Given the description of an element on the screen output the (x, y) to click on. 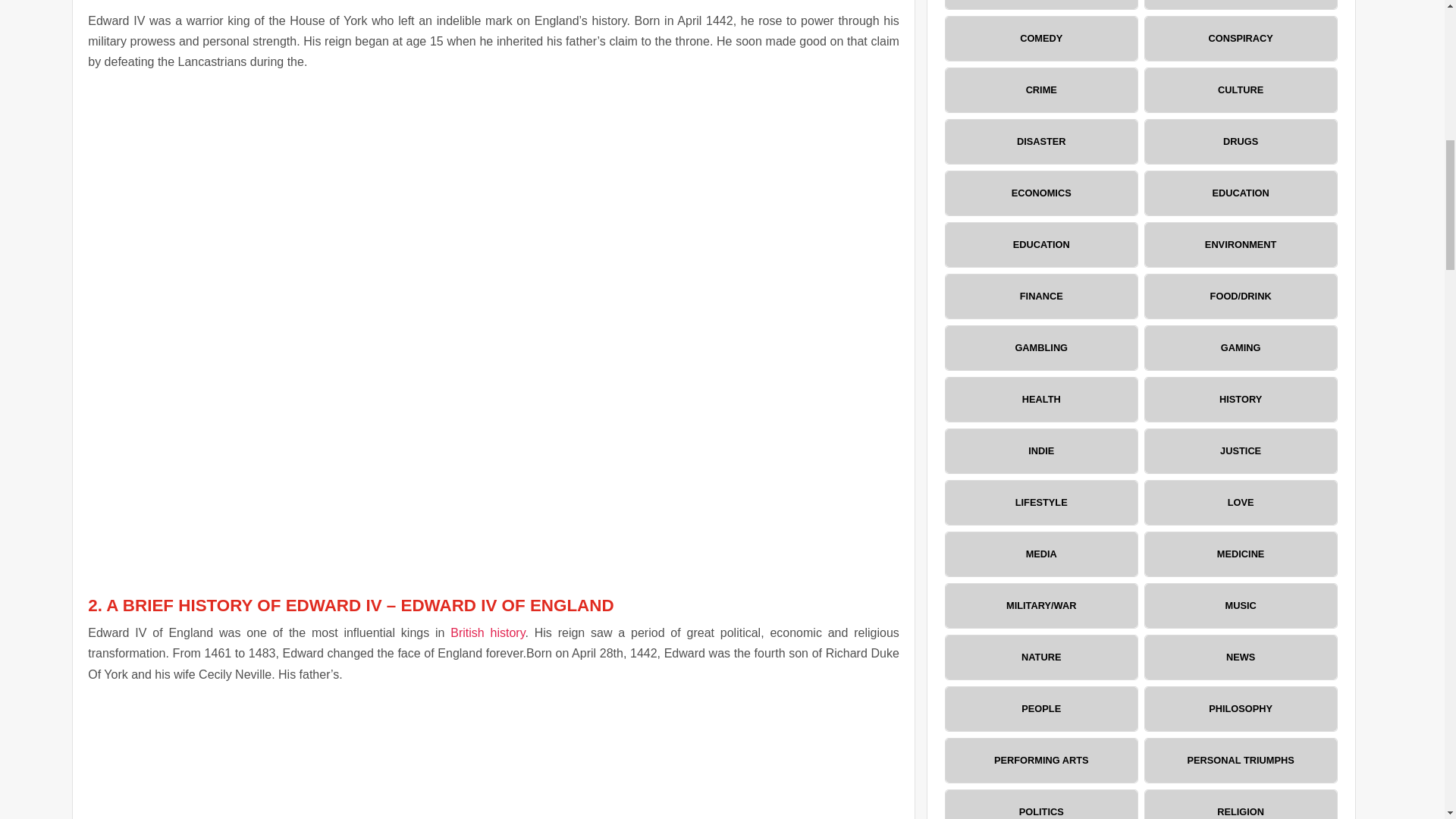
EDUCATION (1240, 193)
COMEDY (1040, 38)
DRUGS (1240, 141)
DISASTER (1040, 141)
BUSINESS (1040, 4)
EDUCATION (1040, 244)
CELEBRITIES (1240, 4)
CULTURE (1240, 89)
ECONOMICS (1040, 193)
CRIME (1040, 89)
A Brief History Of Edward IV - Edward IV Of England (493, 757)
CONSPIRACY (1240, 38)
British history (486, 632)
